Given the description of an element on the screen output the (x, y) to click on. 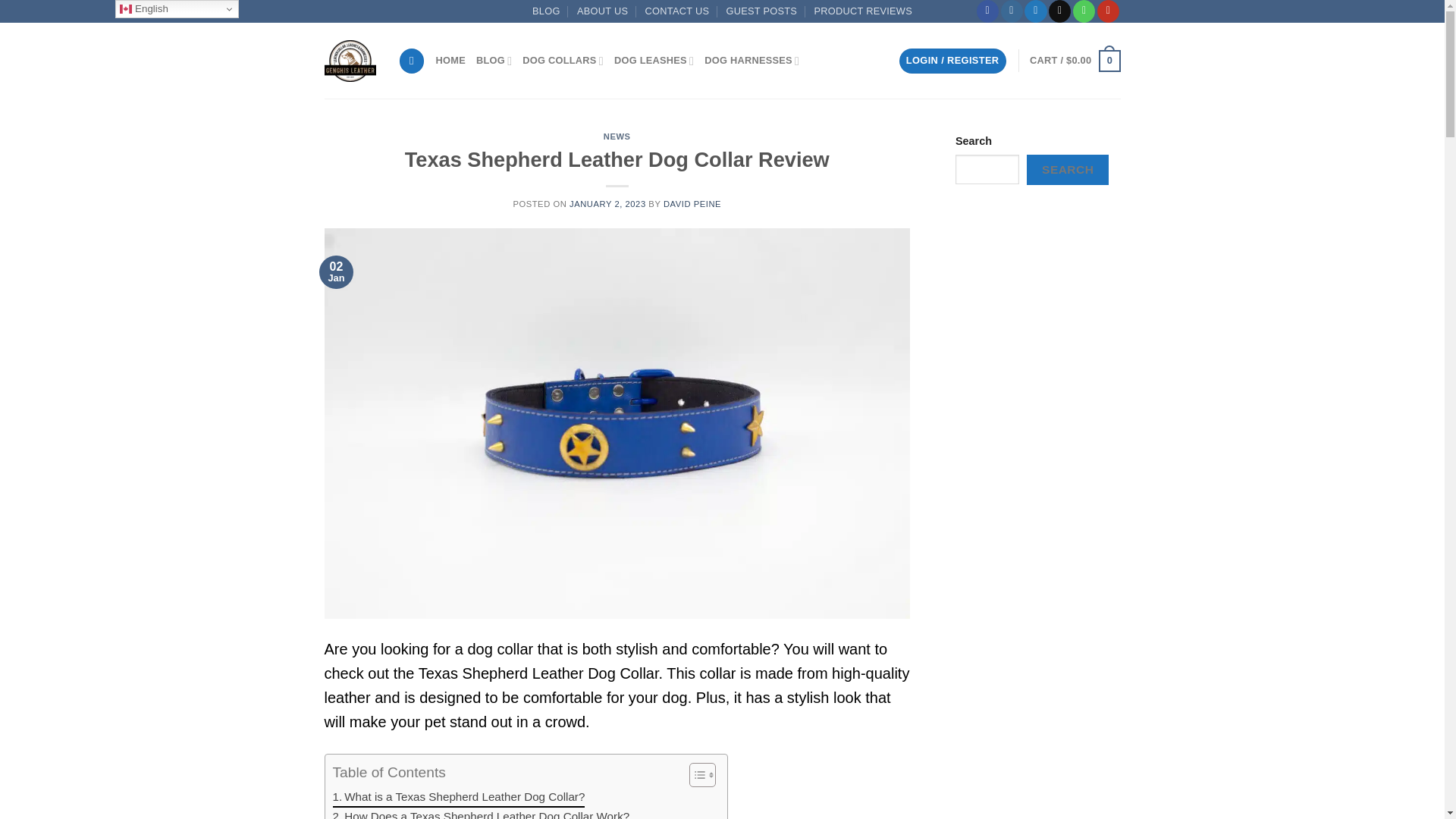
Follow on Twitter (1035, 11)
BLOG (494, 60)
DOG LEASHES (654, 60)
Send us an email (1059, 11)
CONTACT US (677, 11)
HOME (450, 60)
NEWS (617, 135)
GUEST POSTS (761, 11)
ABOUT US (601, 11)
JANUARY 2, 2023 (607, 203)
Call us (1083, 11)
What is a Texas Shepherd Leather Dog Collar? (458, 797)
DOG HARNESSES (751, 60)
